Given the description of an element on the screen output the (x, y) to click on. 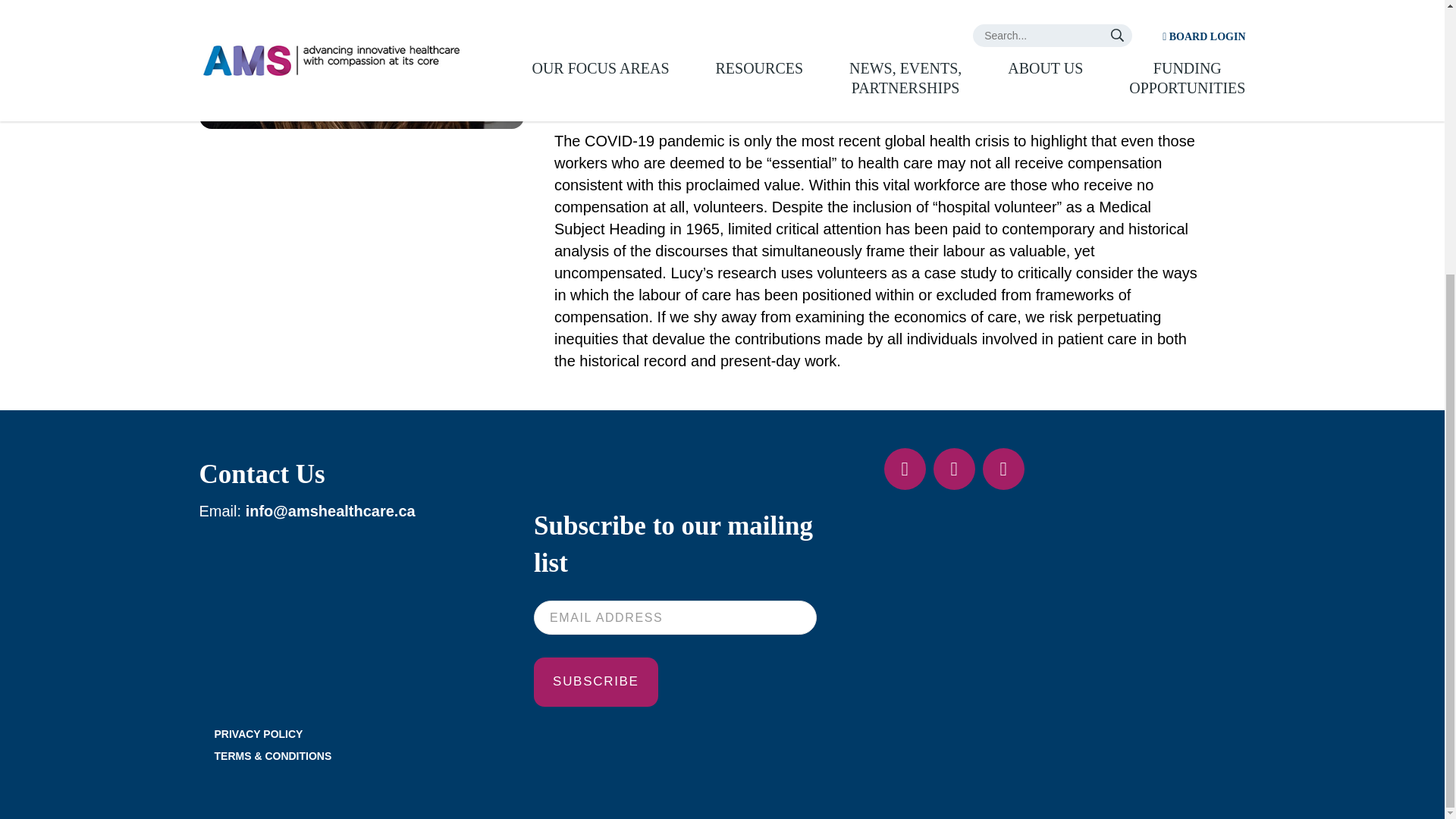
PRIVACY POLICY (258, 734)
600x600-images (360, 63)
Subscribe (596, 681)
Subscribe (596, 681)
Opens in a new window (904, 468)
Opens in a new window (954, 468)
Opens in a new window (1003, 468)
